Given the description of an element on the screen output the (x, y) to click on. 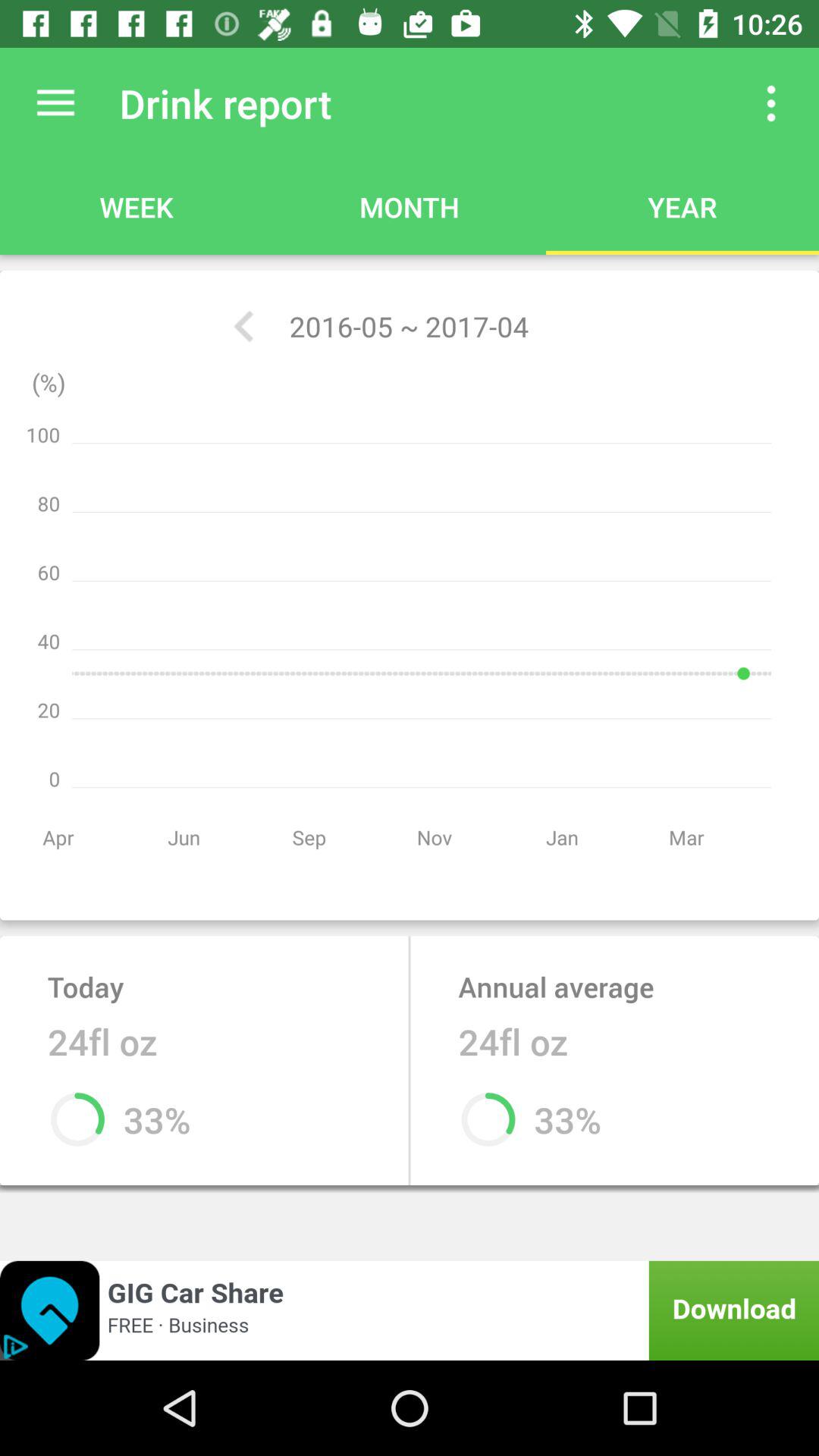
open an advertisements (409, 1310)
